Given the description of an element on the screen output the (x, y) to click on. 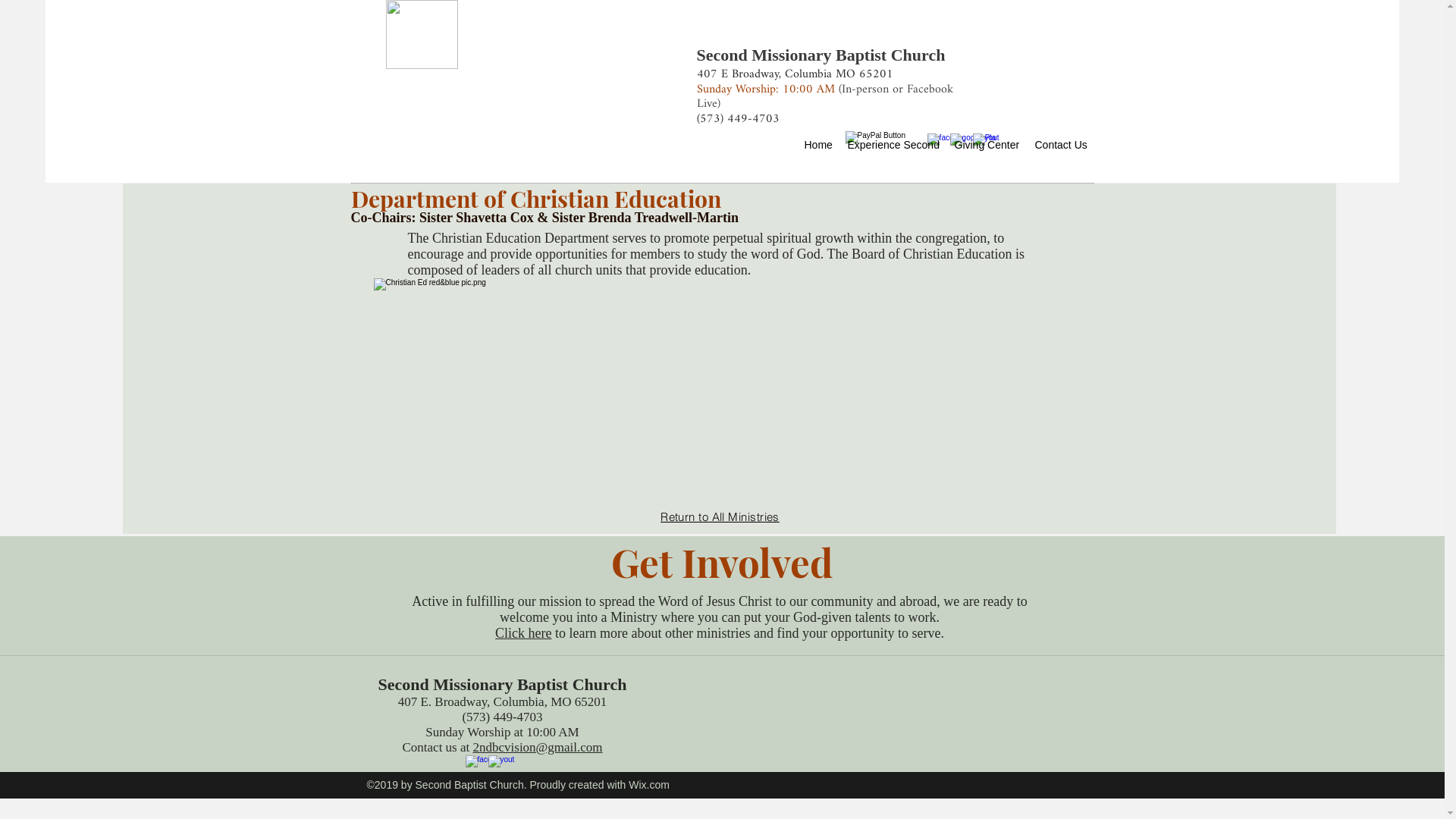
Giving Center Element type: text (986, 144)
2ndbcvision@gmail.com Element type: text (537, 747)
Contact Us Element type: text (1060, 144)
Return to All Ministries Element type: text (719, 517)
Click here Element type: text (523, 632)
Home Element type: text (817, 144)
